Given the description of an element on the screen output the (x, y) to click on. 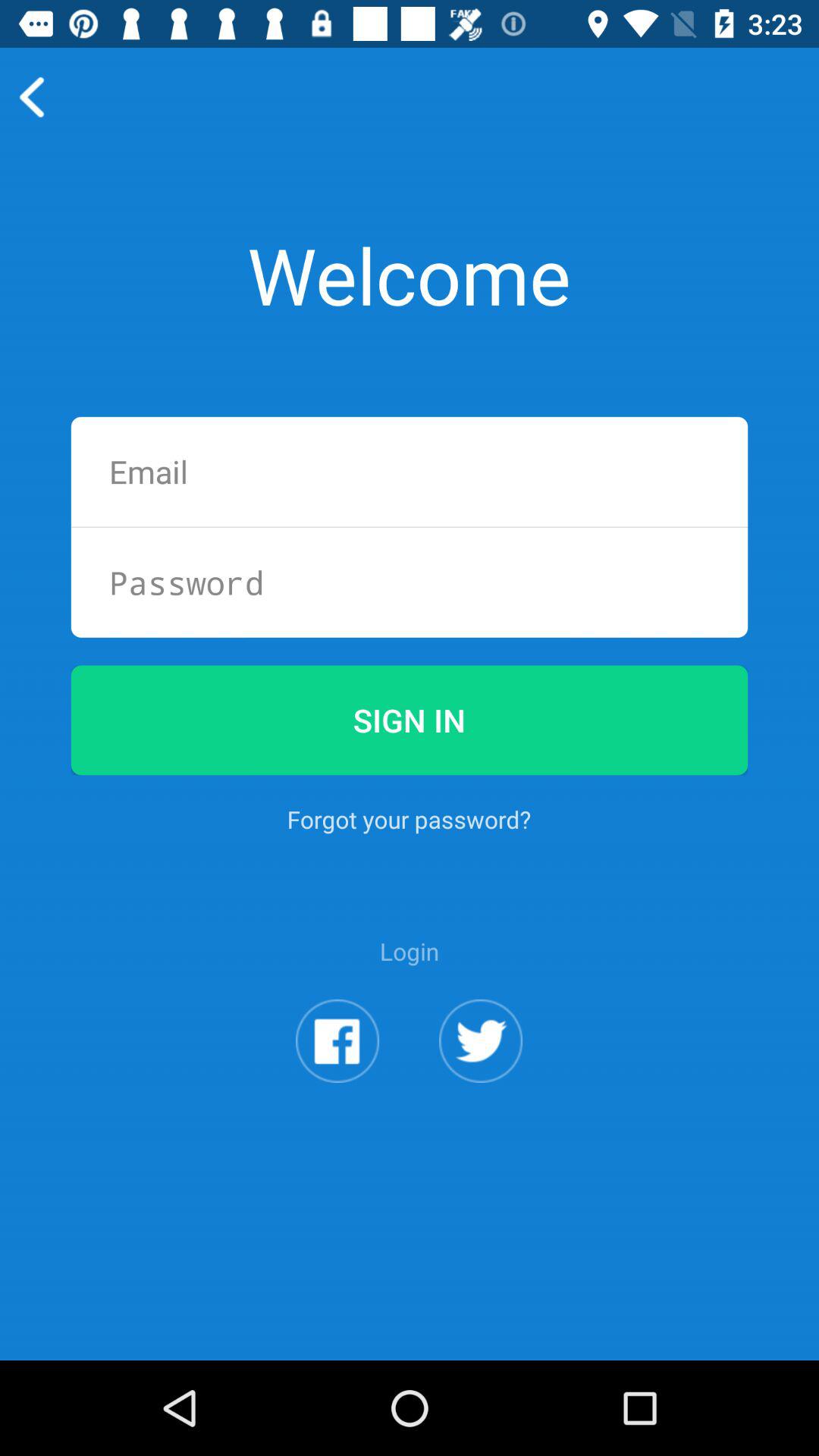
click forgot your password? icon (409, 819)
